Given the description of an element on the screen output the (x, y) to click on. 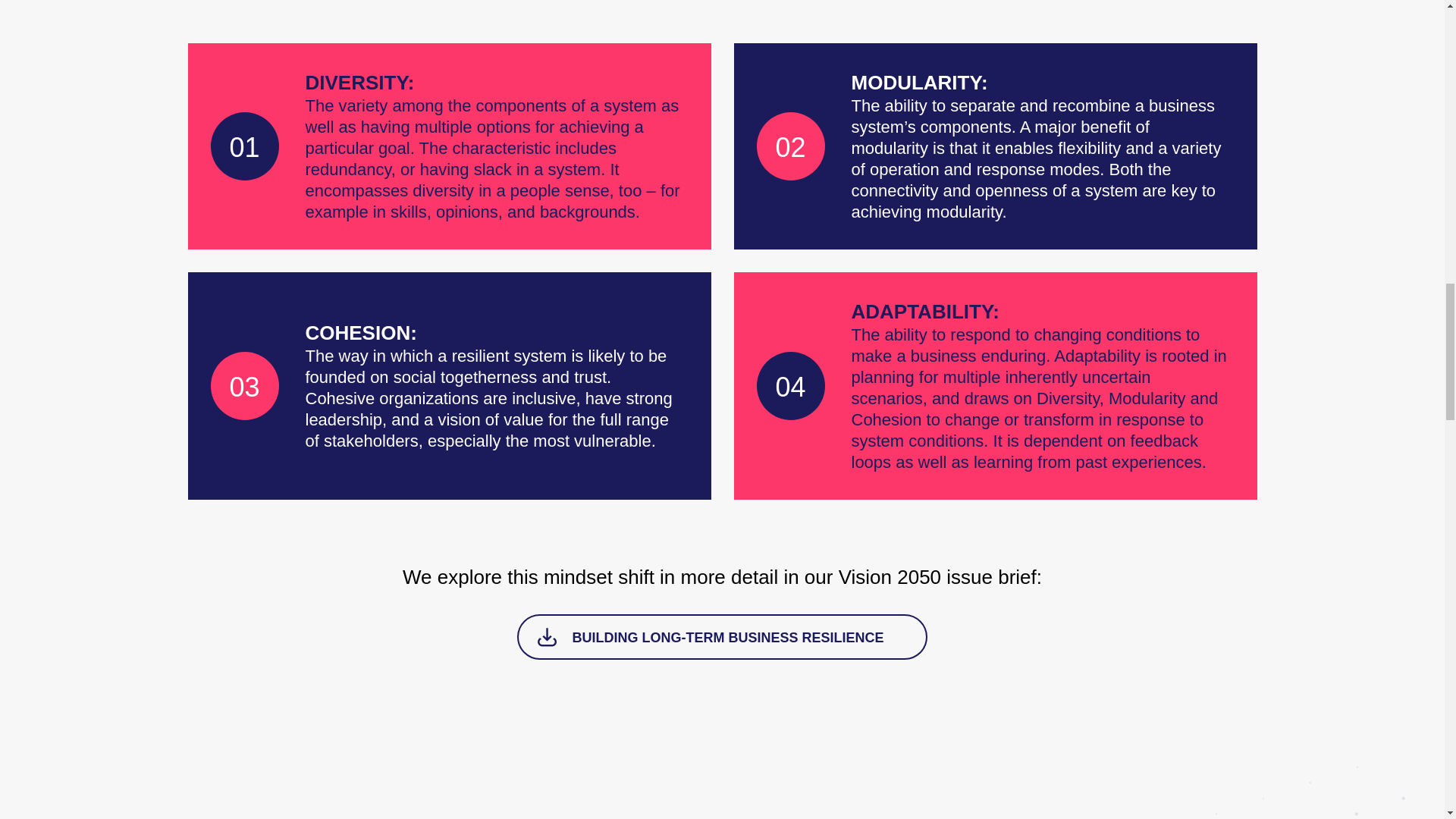
BUILDING LONG-TERM BUSINESS RESILIENCE (721, 637)
Building Long-term Business Resilience (721, 637)
